Given the description of an element on the screen output the (x, y) to click on. 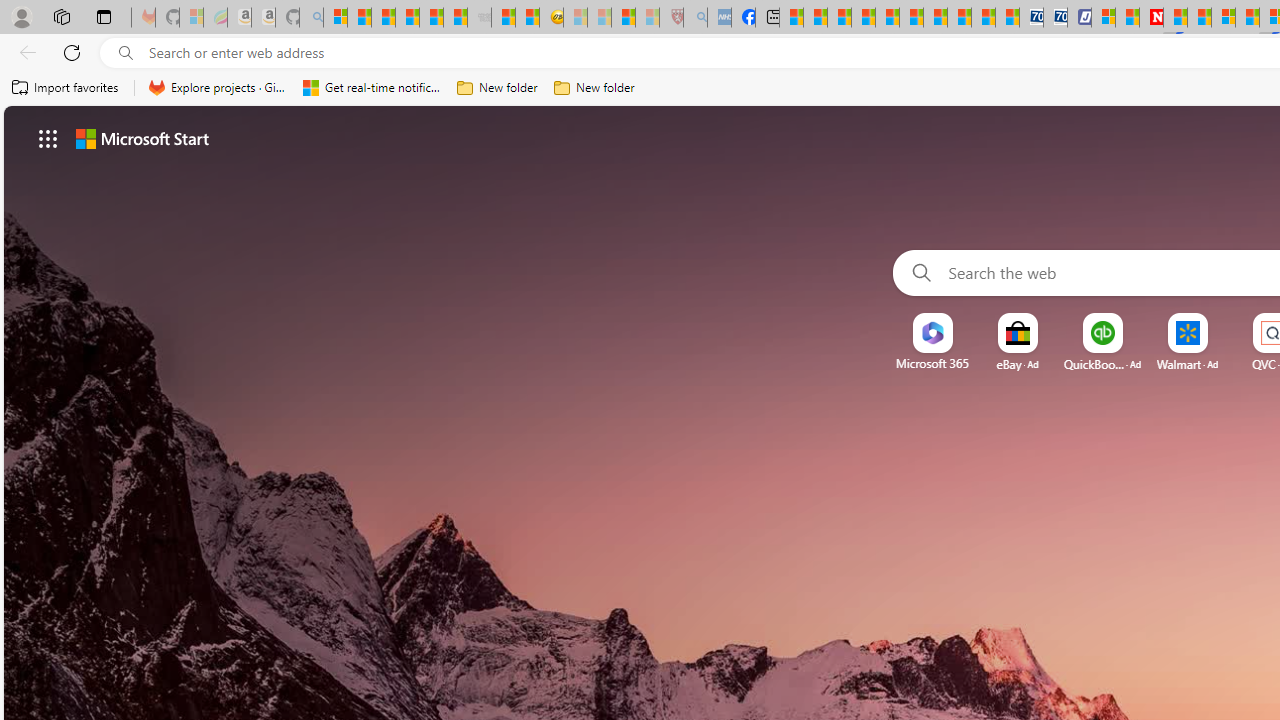
Search icon (125, 53)
